Given the description of an element on the screen output the (x, y) to click on. 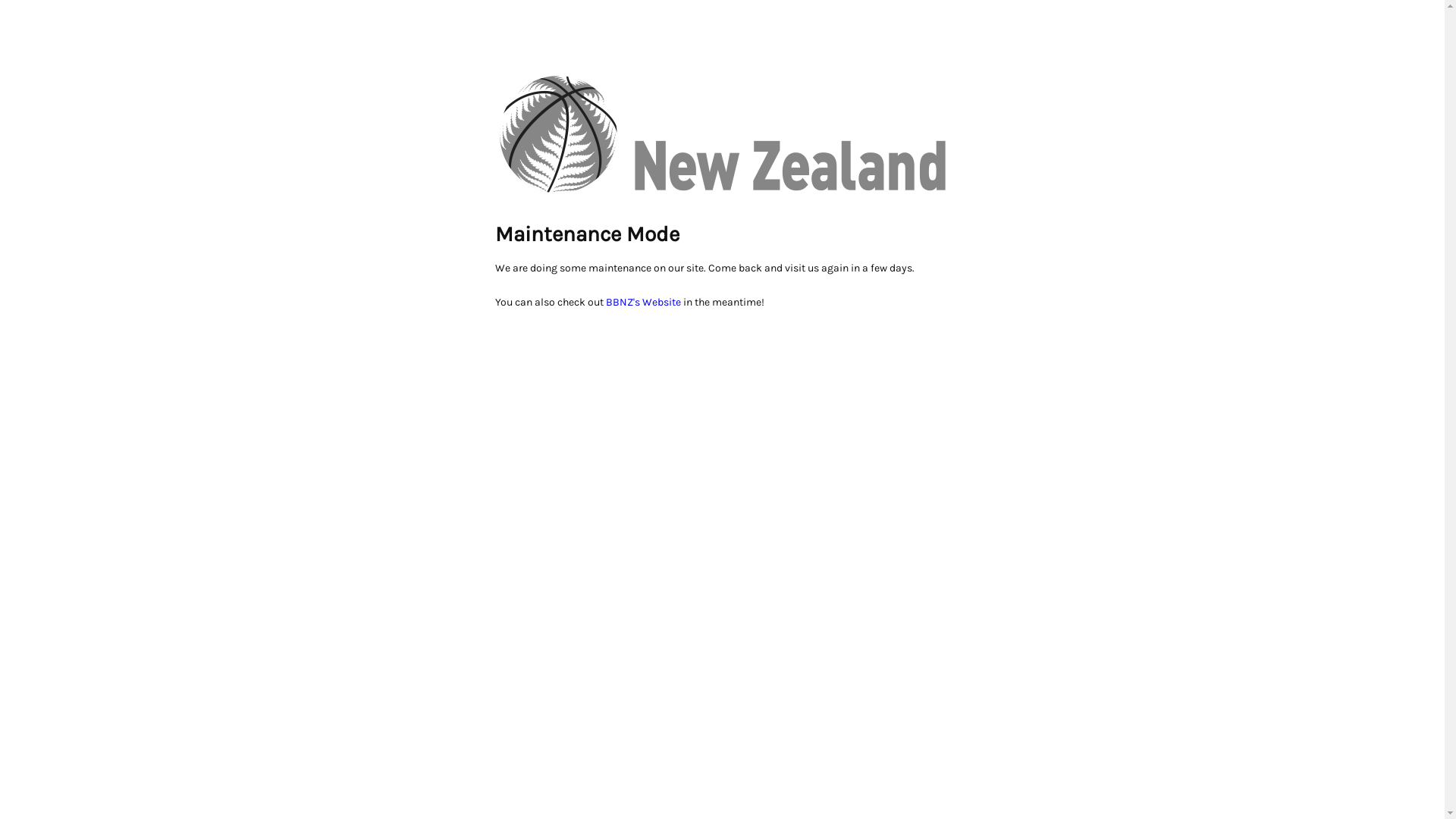
BBNZ's Website Element type: text (642, 301)
Tall Blacks Element type: hover (721, 134)
